Given the description of an element on the screen output the (x, y) to click on. 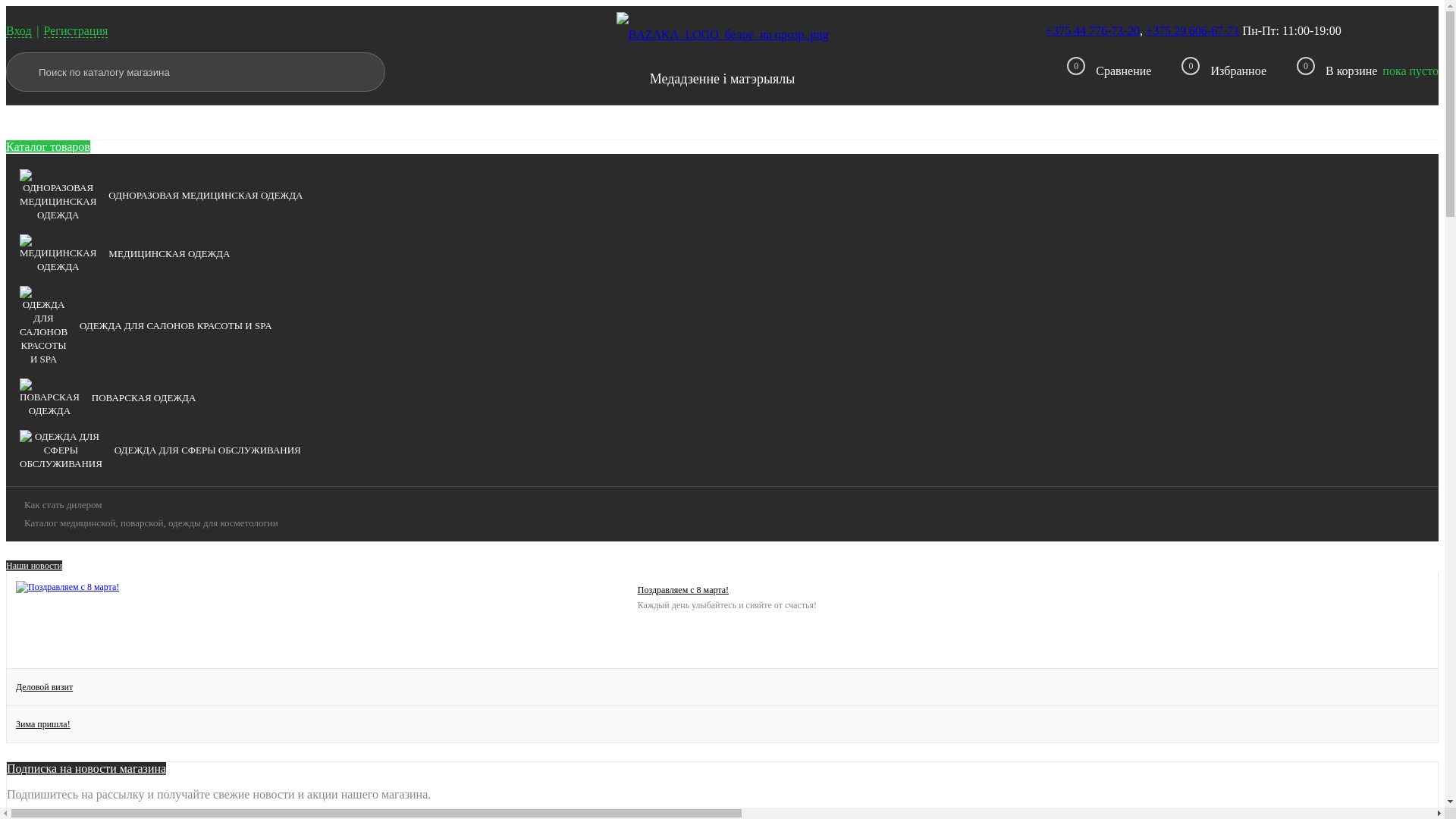
0 Element type: text (1298, 71)
0 Element type: text (1068, 73)
Y Element type: text (362, 72)
+375 44 776-73-20 Element type: text (1092, 30)
0 Element type: text (1182, 73)
+375 29 606-67-71 Element type: text (1192, 30)
